Given the description of an element on the screen output the (x, y) to click on. 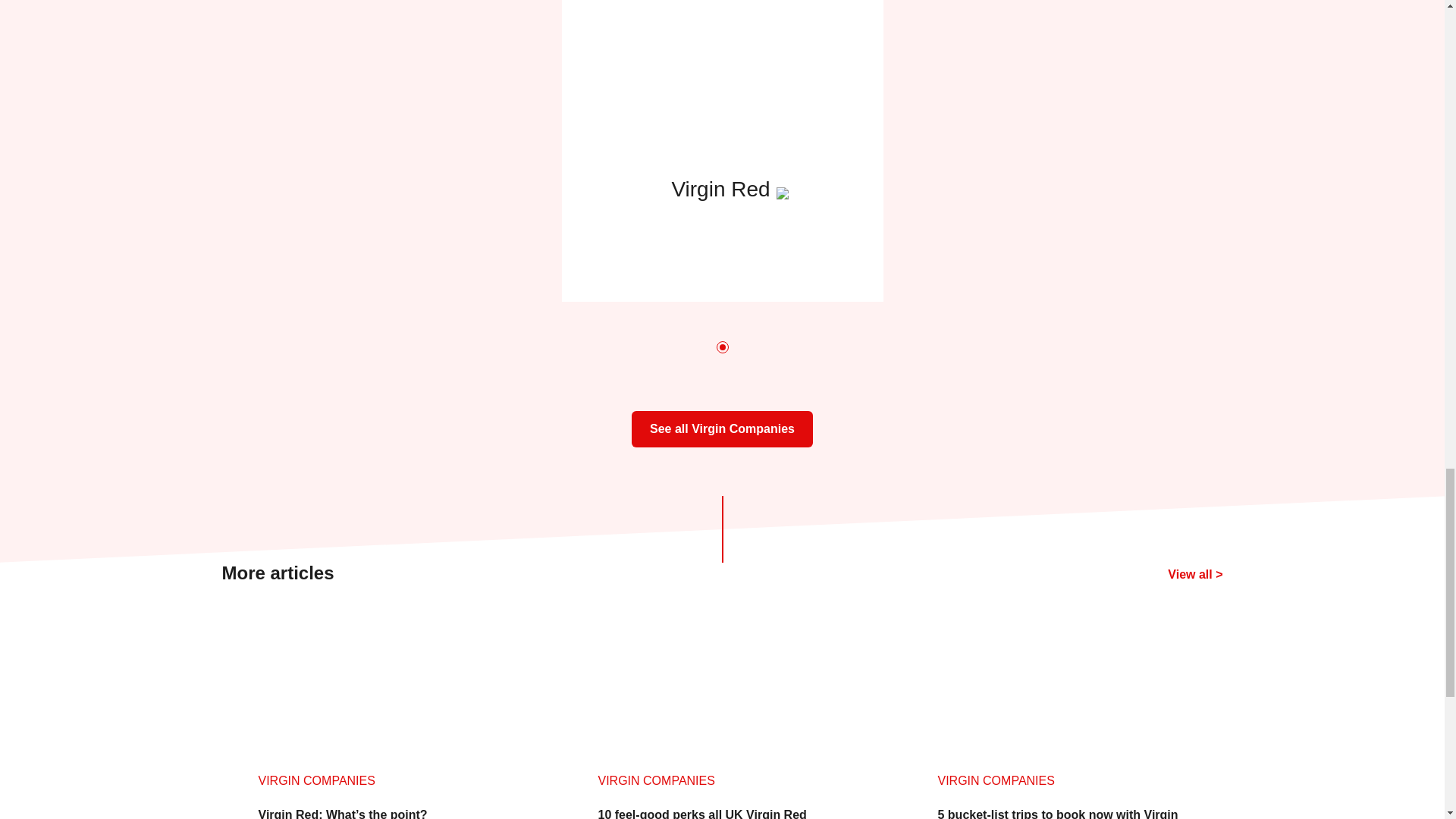
Virgin Red (721, 151)
See all Virgin Companies (721, 428)
